Given the description of an element on the screen output the (x, y) to click on. 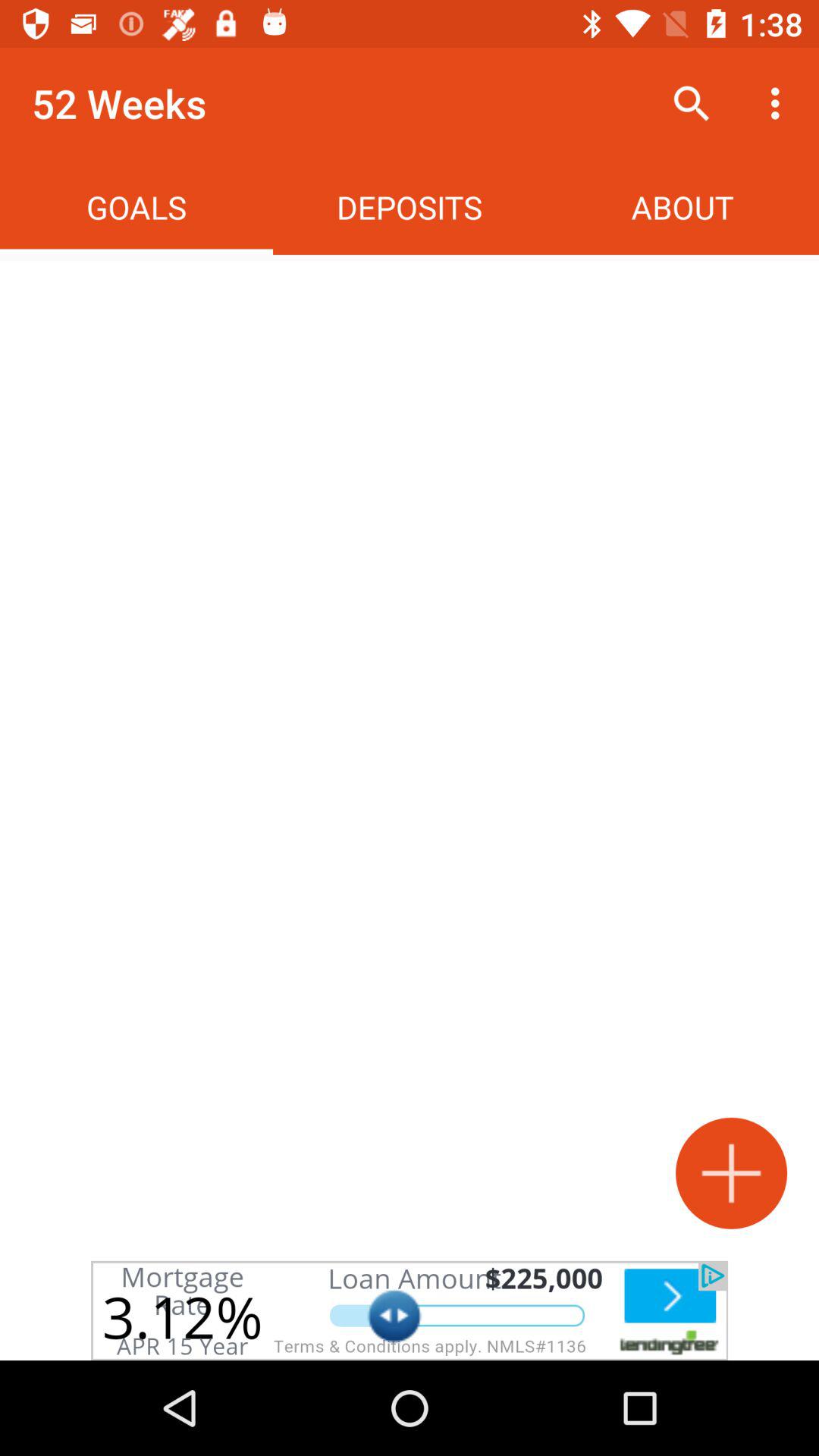
select advertisement (409, 1310)
